Given the description of an element on the screen output the (x, y) to click on. 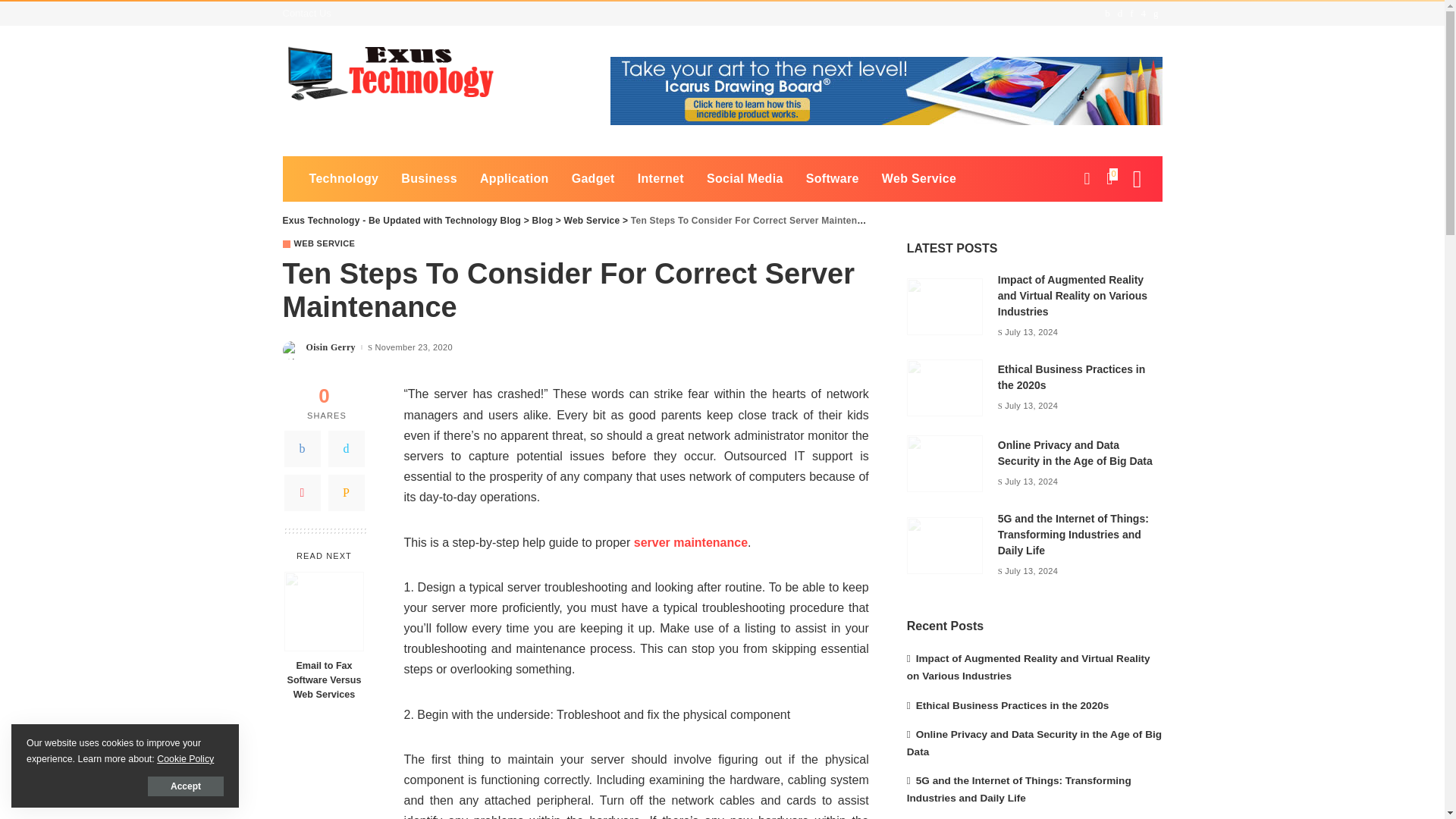
Exus Technology - Be Updated with Technology Blog (392, 73)
